Given the description of an element on the screen output the (x, y) to click on. 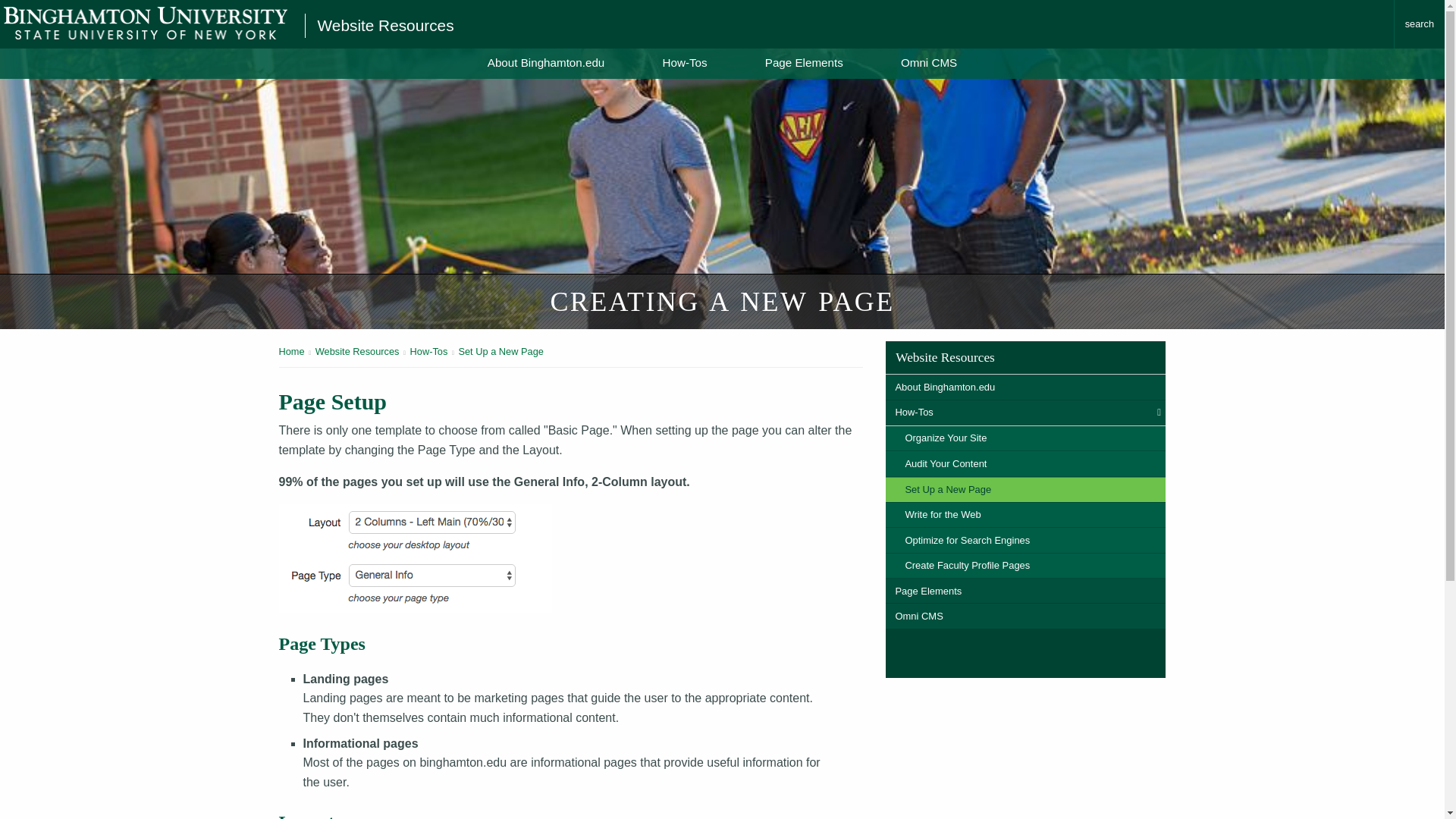
Omni CMS (928, 62)
Set Up a New Page (1025, 489)
Set Up a New Page (500, 351)
Create Faculty Profile Pages (1025, 565)
Optimize for Search Engines (1025, 539)
Omni CMS (1025, 615)
How-Tos (1025, 412)
Home (291, 351)
About Binghamton.edu (1025, 386)
Write for the Web (1025, 514)
How-Tos (684, 62)
About Binghamton.edu (545, 62)
How-Tos (429, 351)
Website Resources (1025, 357)
Organize Your Site (1025, 438)
